Given the description of an element on the screen output the (x, y) to click on. 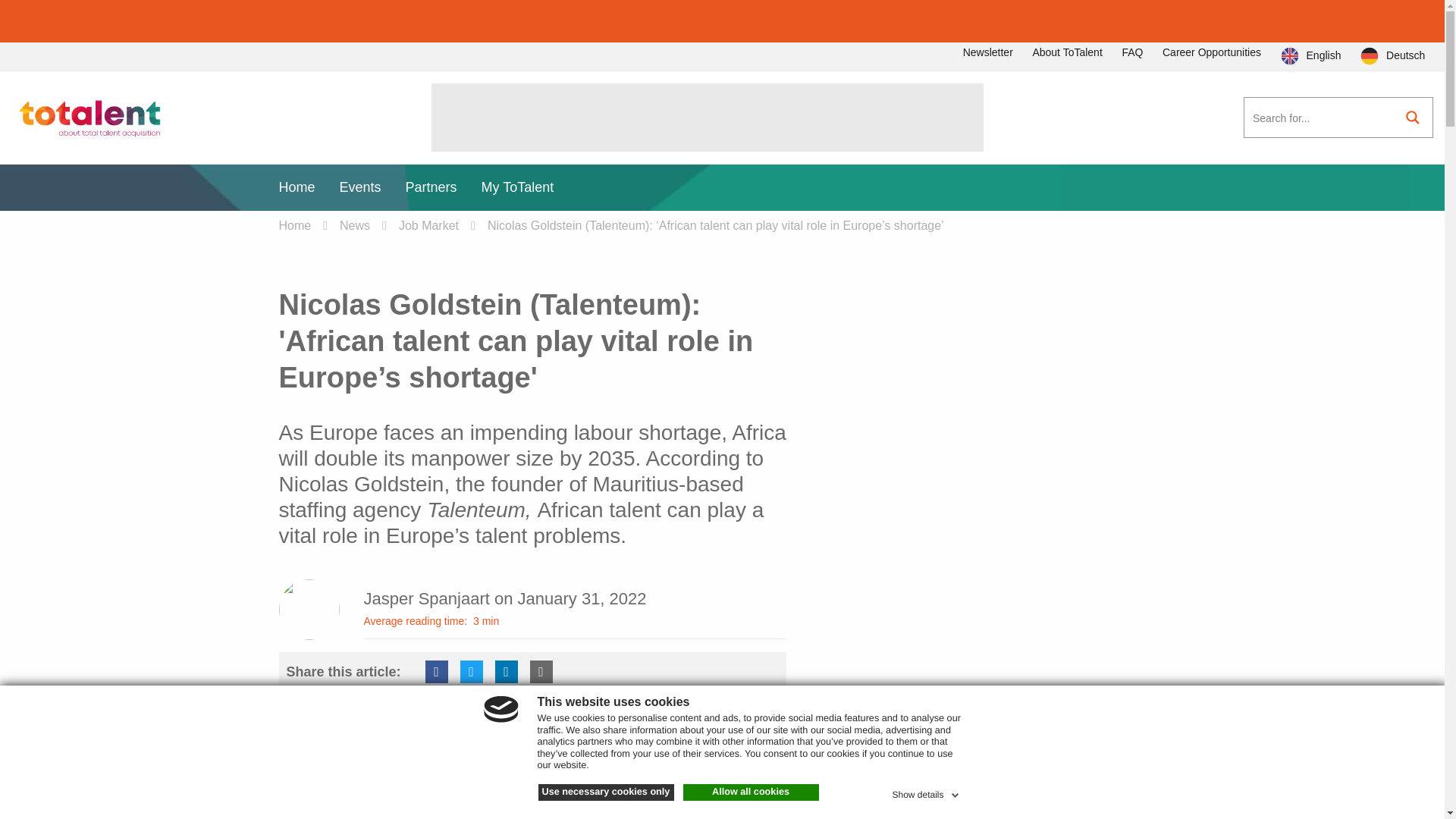
Show details (925, 791)
Allow all cookies (750, 791)
Use necessary cookies only (606, 791)
